Given the description of an element on the screen output the (x, y) to click on. 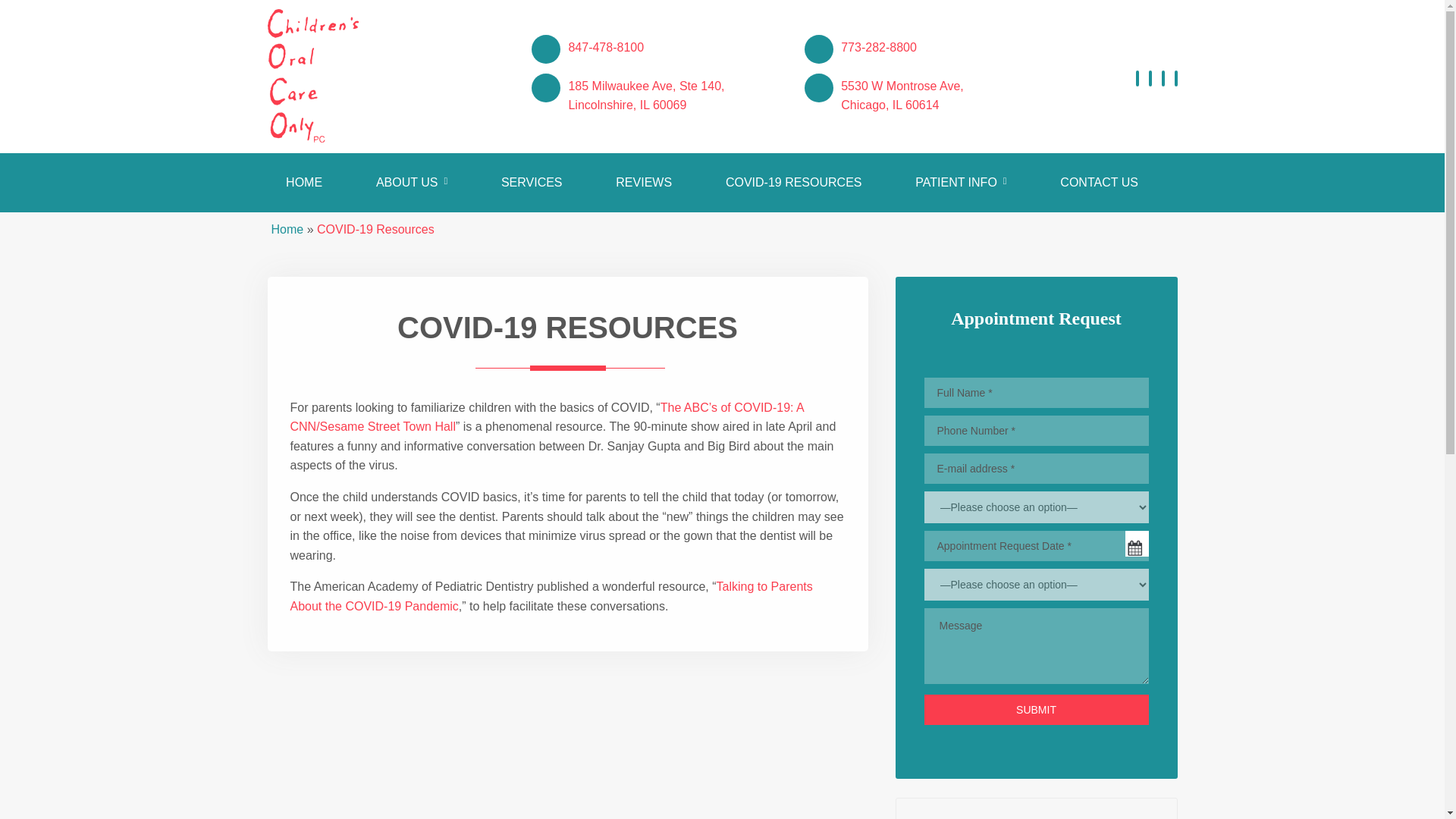
Submit (1035, 709)
ABOUT US (411, 182)
847-478-8100 (902, 95)
REVIEWS (645, 95)
773-282-8800 (605, 47)
COVID-19 RESOURCES (643, 182)
Home (879, 47)
HOME (793, 182)
SERVICES (284, 228)
PATIENT INFO (315, 182)
CONTACT US (531, 182)
